Given the description of an element on the screen output the (x, y) to click on. 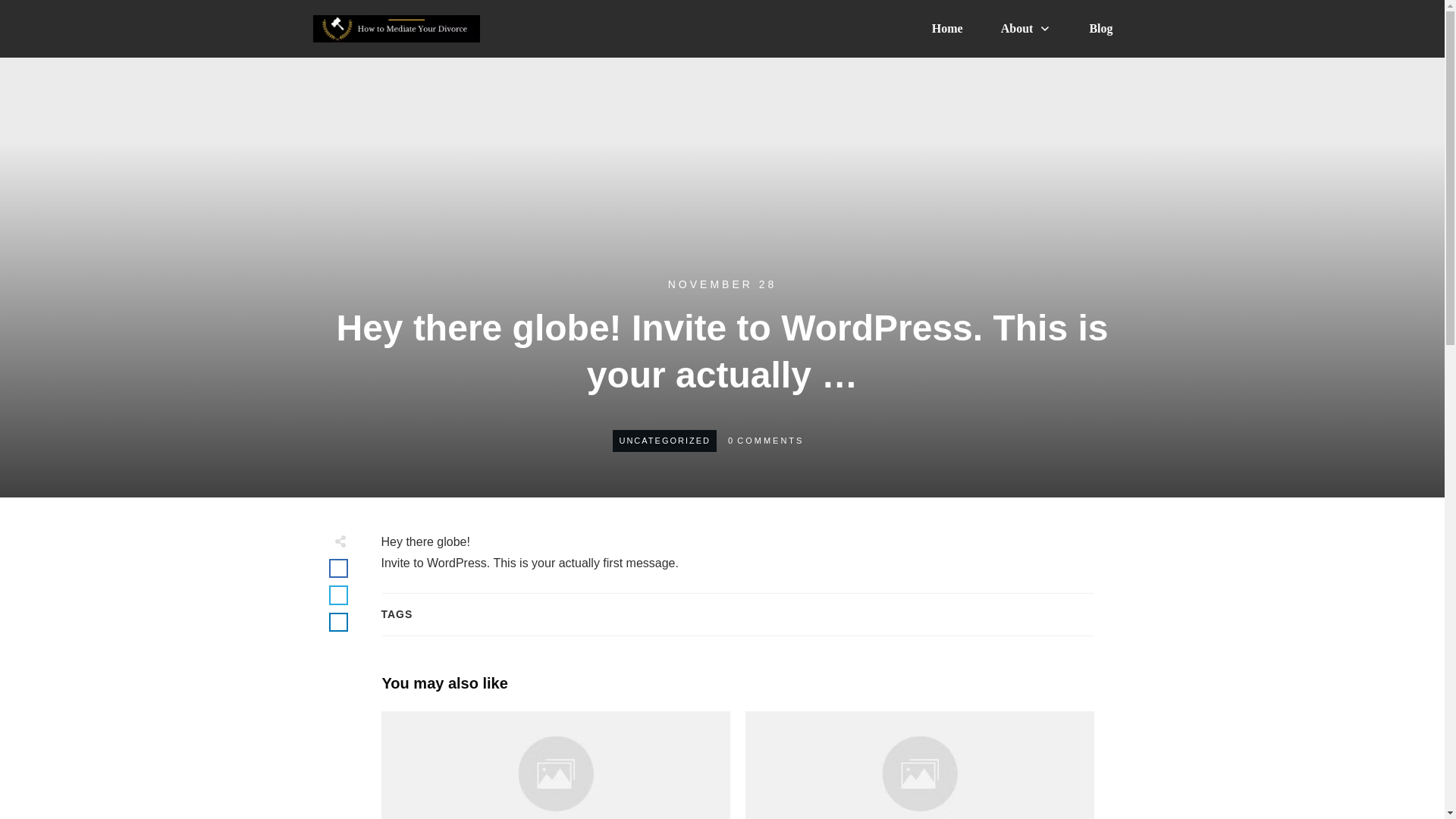
Mr. Mafioso Does Emotional Intelligence (918, 765)
UNCATEGORIZED (664, 440)
Blog (1100, 28)
Home (946, 28)
About (1026, 28)
Uncategorized (664, 440)
Success Tips For Older College Students (554, 765)
